Given the description of an element on the screen output the (x, y) to click on. 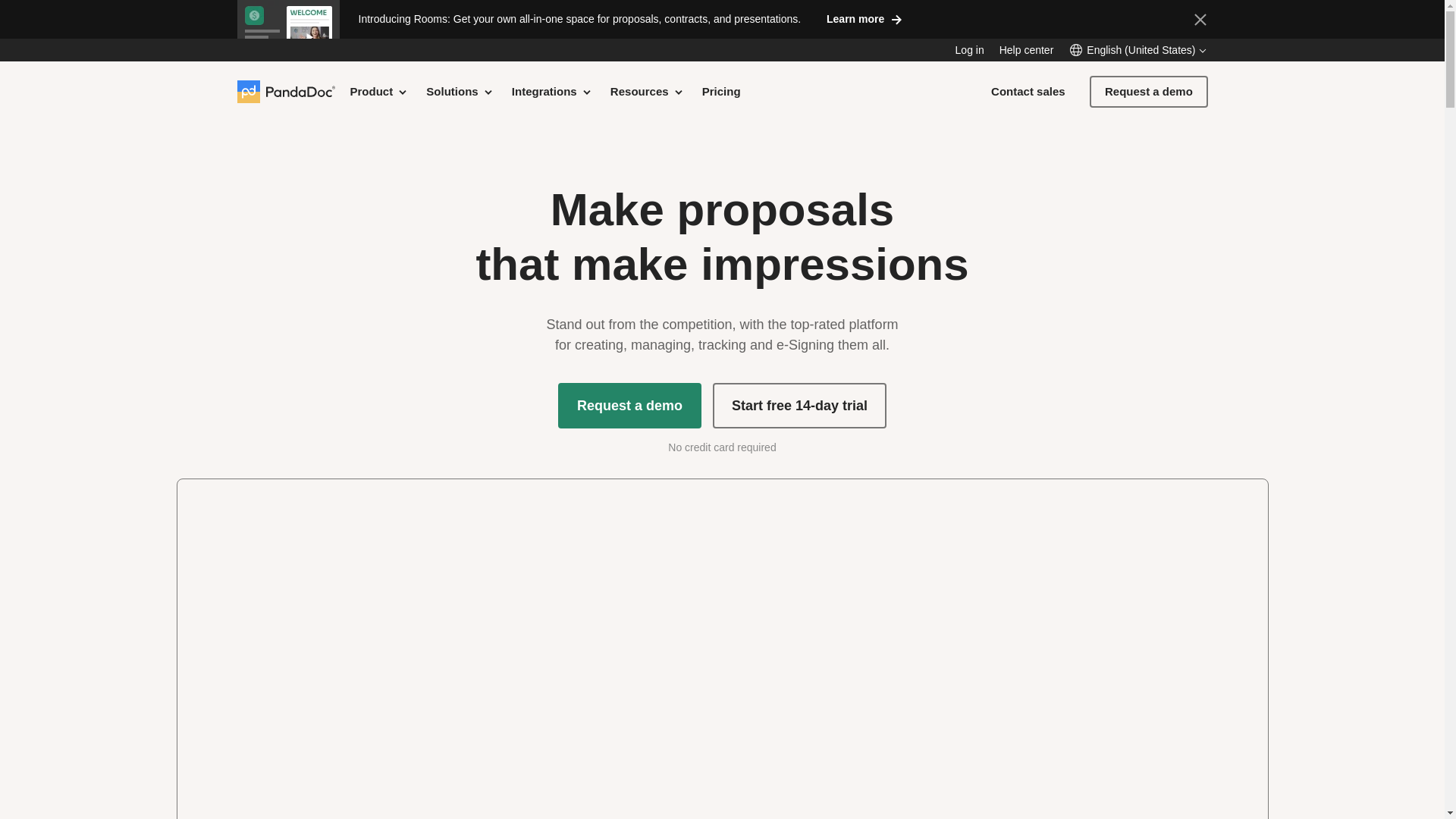
Product (379, 91)
Learn more (863, 18)
Solutions (459, 91)
Help center (1026, 50)
Log in (969, 50)
